Given the description of an element on the screen output the (x, y) to click on. 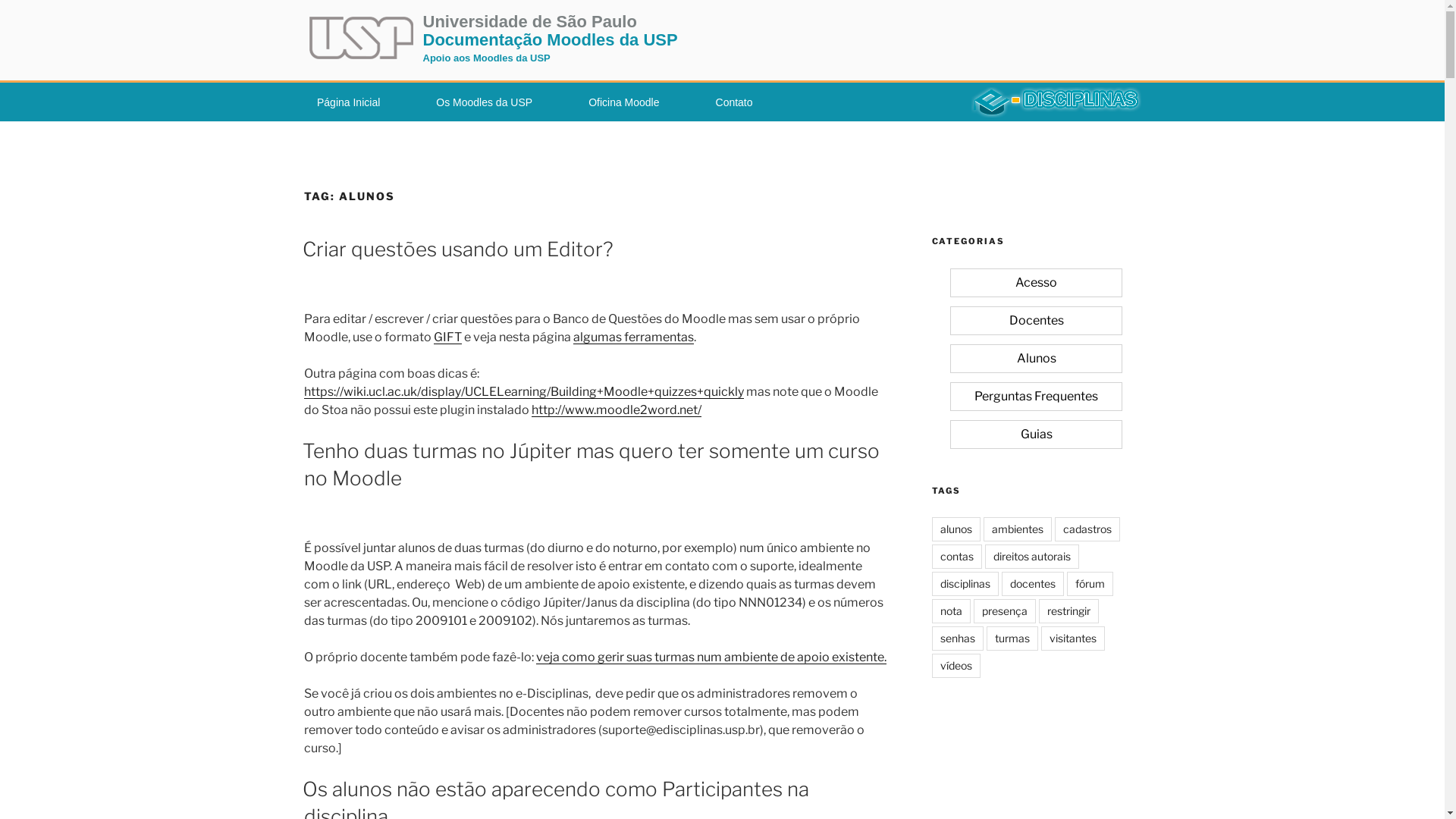
veja como gerir suas turmas num ambiente de apoio existente. Element type: text (710, 656)
Contato Element type: text (733, 102)
turmas Element type: text (1011, 638)
Guias Element type: text (1035, 434)
Alunos Element type: text (1035, 358)
restringir Element type: text (1068, 611)
Perguntas Frequentes Element type: text (1035, 396)
docentes Element type: text (1032, 583)
visitantes Element type: text (1072, 638)
contas Element type: text (956, 556)
Docentes Element type: text (1035, 320)
http://www.moodle2word.net/ Element type: text (615, 409)
GIFT Element type: text (447, 336)
senhas Element type: text (956, 638)
Acesso Element type: text (1035, 282)
Perguntas Frequentes Element type: text (1035, 395)
Os Moodles da USP Element type: text (484, 102)
nota Element type: text (950, 611)
cadastros Element type: text (1086, 529)
direitos autorais Element type: text (1031, 556)
Oficina Moodle Element type: text (623, 102)
Docentes Element type: text (1035, 319)
algumas ferramentas Element type: text (633, 336)
alunos Element type: text (955, 529)
Alunos Element type: text (1035, 357)
ambientes Element type: text (1016, 529)
Acesso Element type: text (1035, 282)
disciplinas Element type: text (964, 583)
Guias Element type: text (1035, 433)
